Given the description of an element on the screen output the (x, y) to click on. 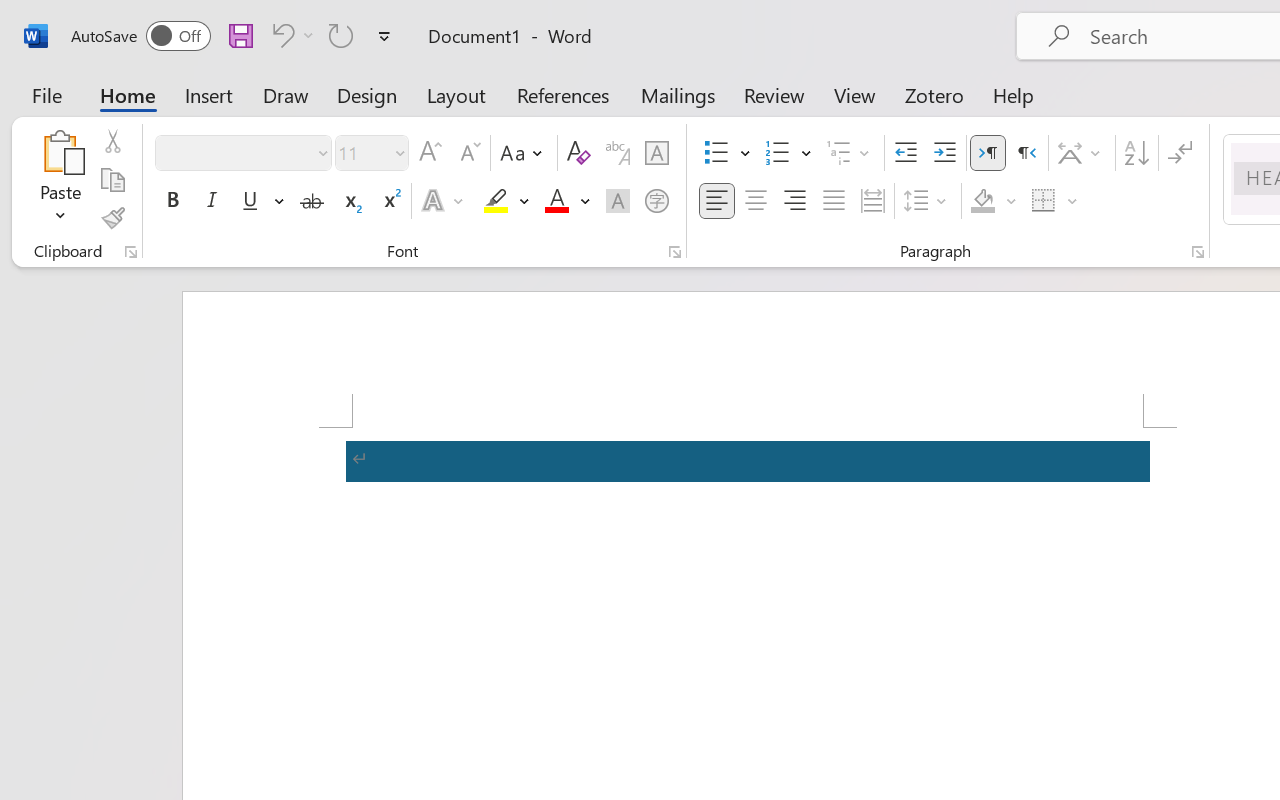
Right-to-Left (1026, 153)
Left-to-Right (988, 153)
